Given the description of an element on the screen output the (x, y) to click on. 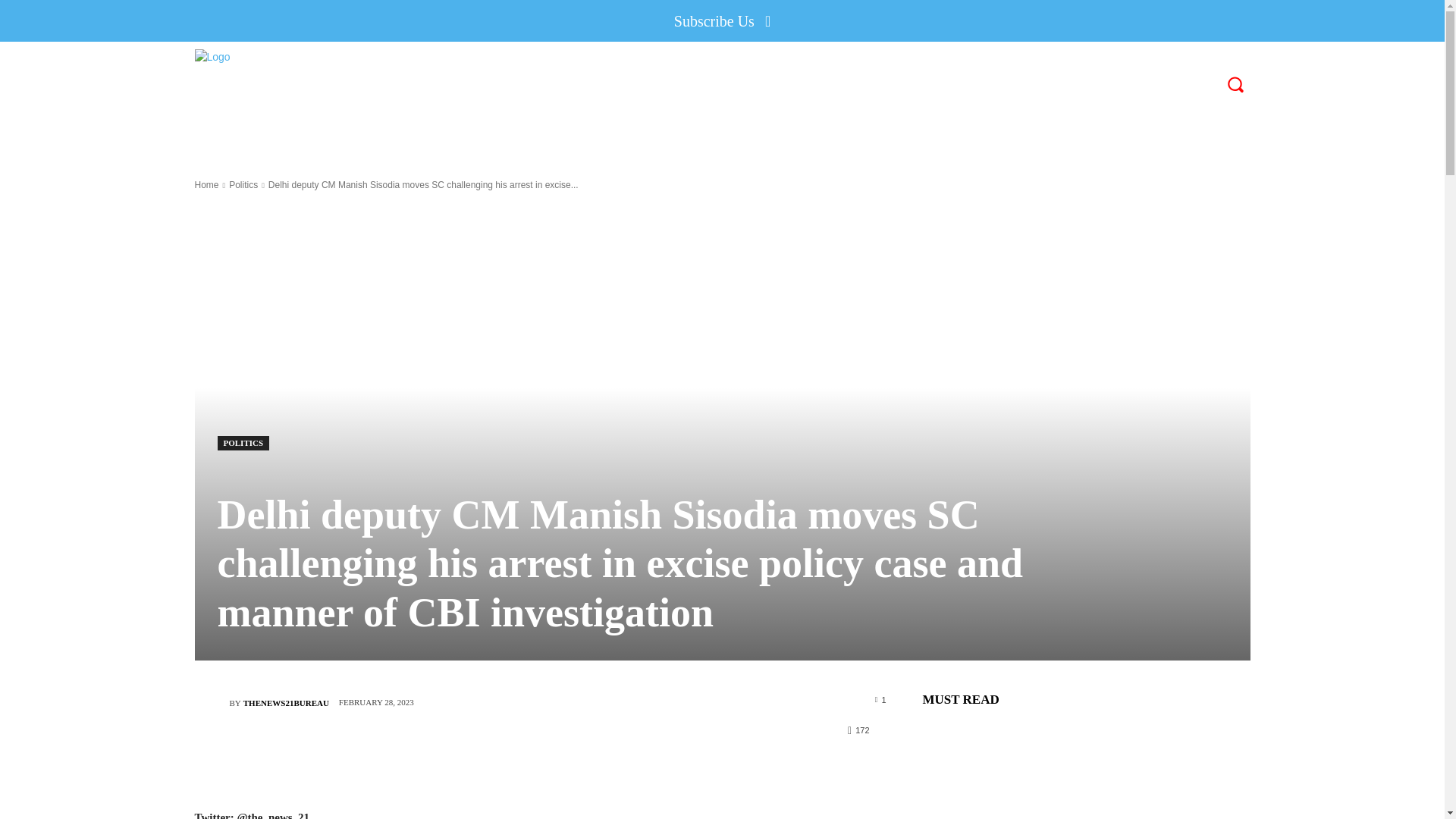
thenews21bureau (210, 702)
1 (880, 698)
Politics (242, 184)
THENEWS21BUREAU (286, 702)
Home (205, 184)
POLITICS (242, 442)
View all posts in Politics (242, 184)
